Given the description of an element on the screen output the (x, y) to click on. 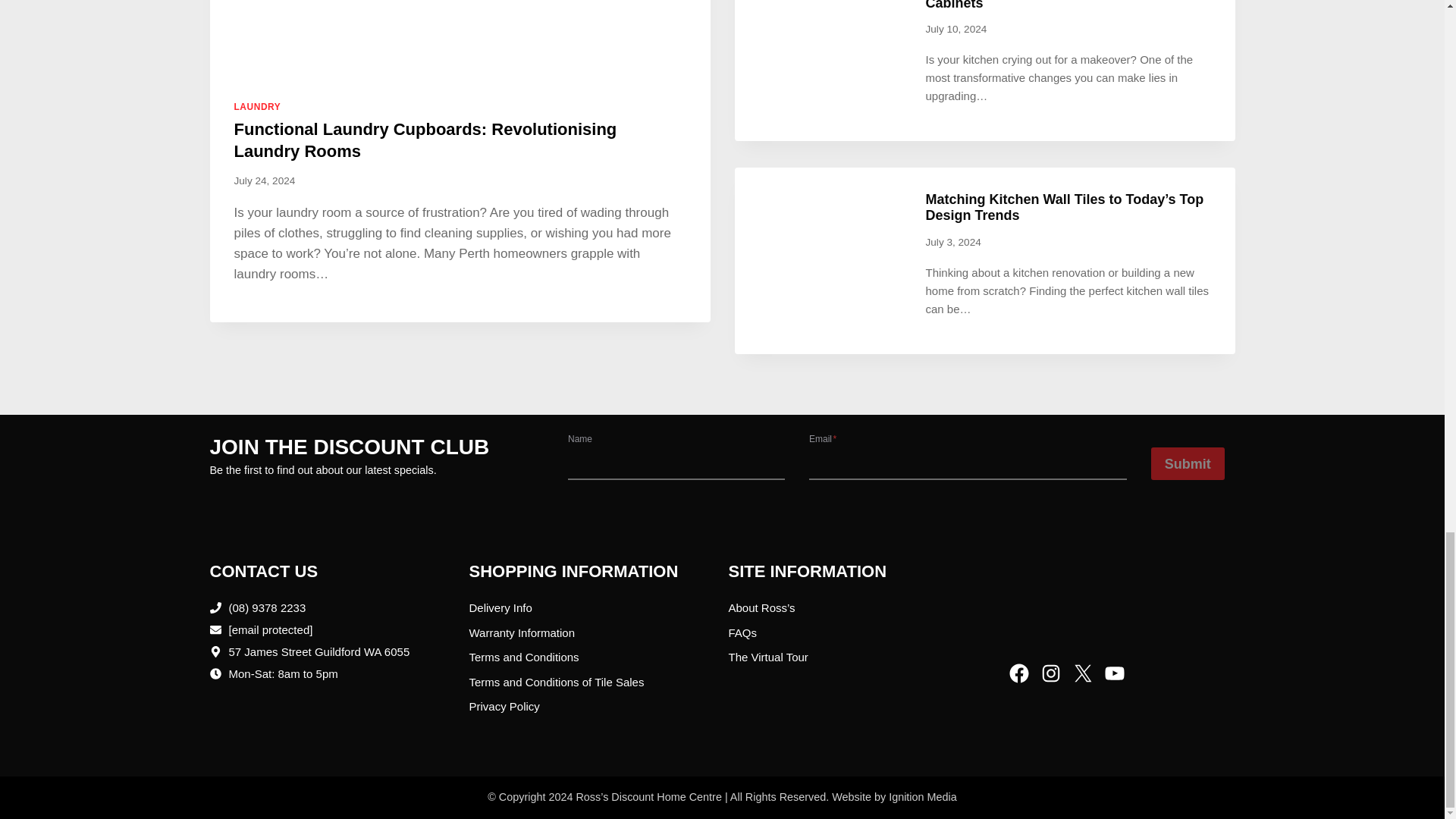
eWAY Payment Gateway (1120, 596)
